Given the description of an element on the screen output the (x, y) to click on. 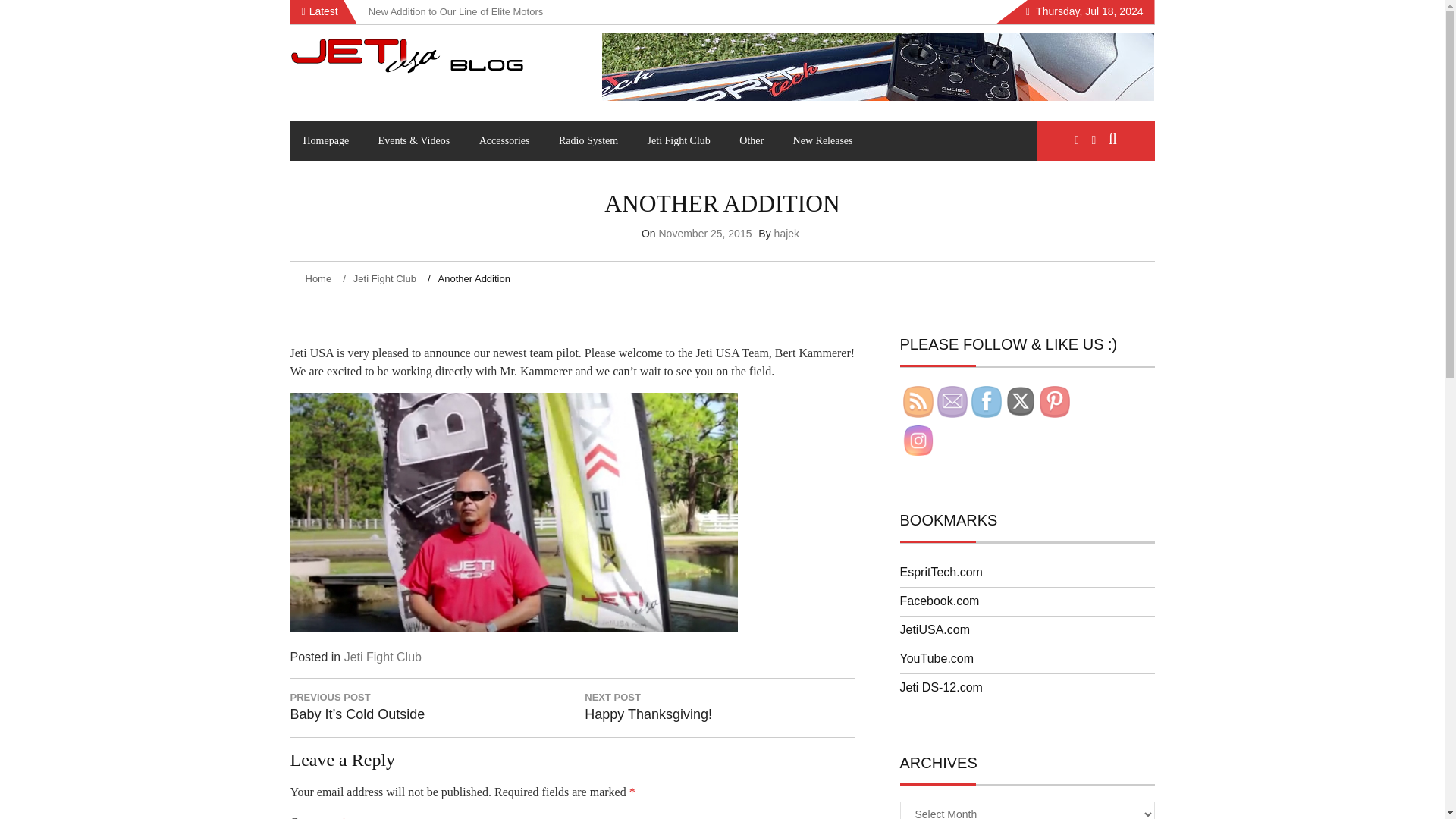
Home (319, 278)
Instagram (917, 440)
Jeti Fight Club (678, 140)
Jeti Fight Club (381, 278)
Follow by Email (952, 401)
Homepage (325, 140)
New Addition to Our Line of Elite Motors (455, 11)
Pinterest (1053, 401)
Twitter (1020, 400)
Radio System (588, 140)
JetiUSA Blog (358, 101)
hajek (786, 233)
New Releases (823, 140)
RSS (917, 401)
Other (751, 140)
